Given the description of an element on the screen output the (x, y) to click on. 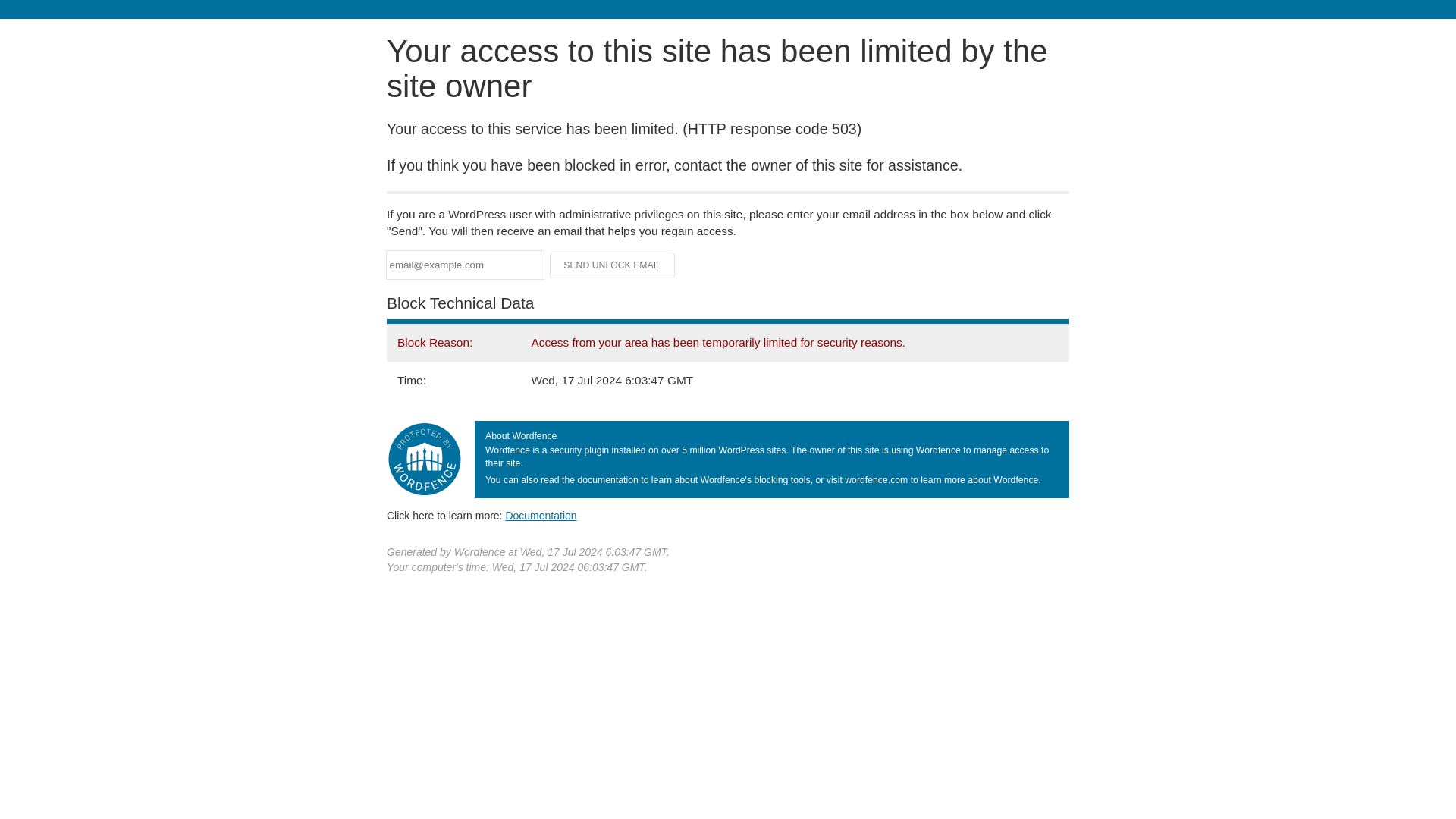
Send Unlock Email (612, 265)
Send Unlock Email (612, 265)
Documentation (540, 515)
